Given the description of an element on the screen output the (x, y) to click on. 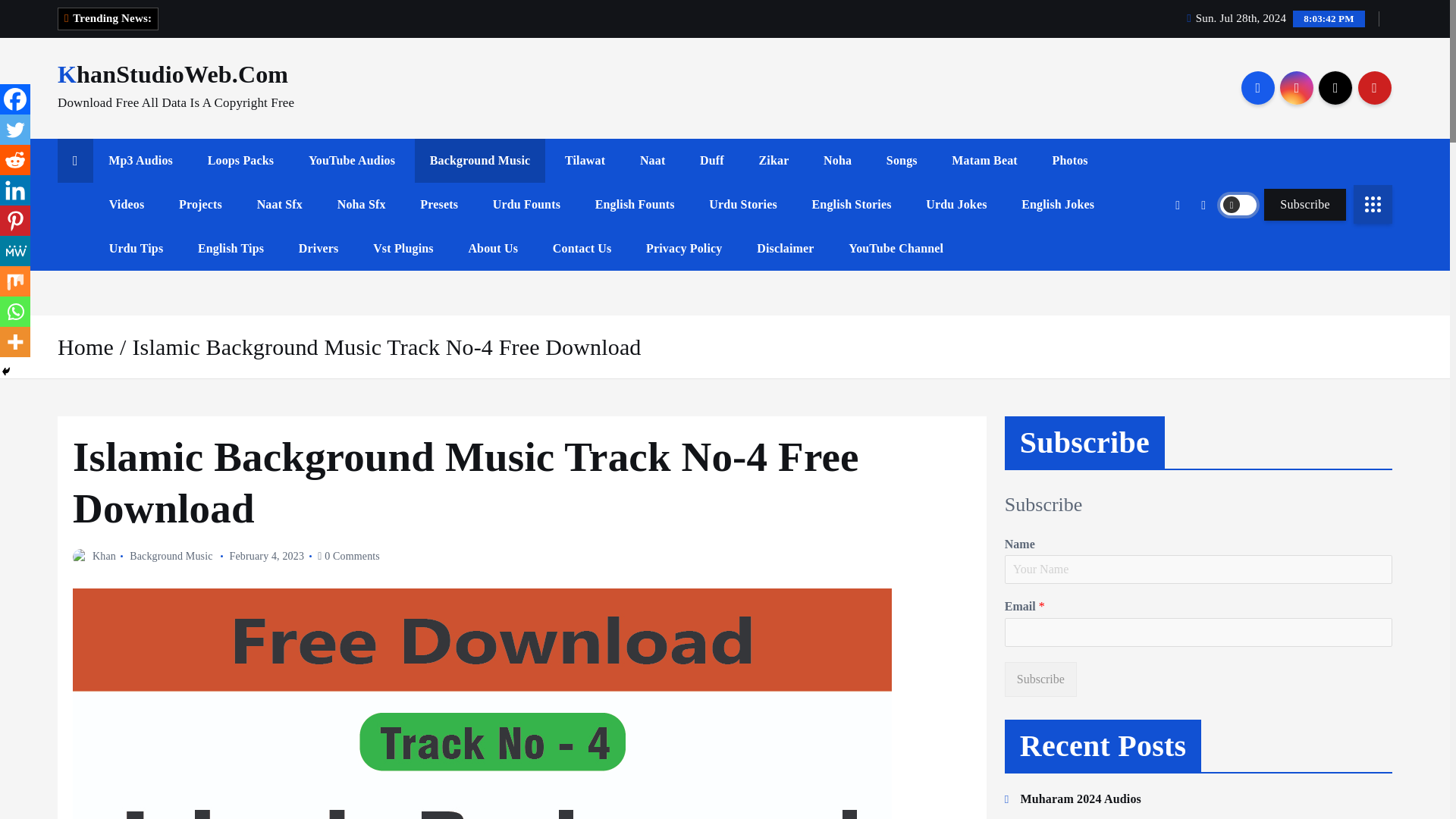
Photos (1069, 160)
Projects (200, 204)
Loops Packs (240, 160)
Background Music (480, 160)
Urdu Stories (743, 204)
Photos (1069, 160)
Background Music (480, 160)
YouTube Channel (895, 248)
Presets (438, 204)
Contact Us (582, 248)
Naat (652, 160)
Privacy Policy (683, 248)
English Tips (231, 248)
Disclaimer (784, 248)
Urdu Founts (526, 204)
